Given the description of an element on the screen output the (x, y) to click on. 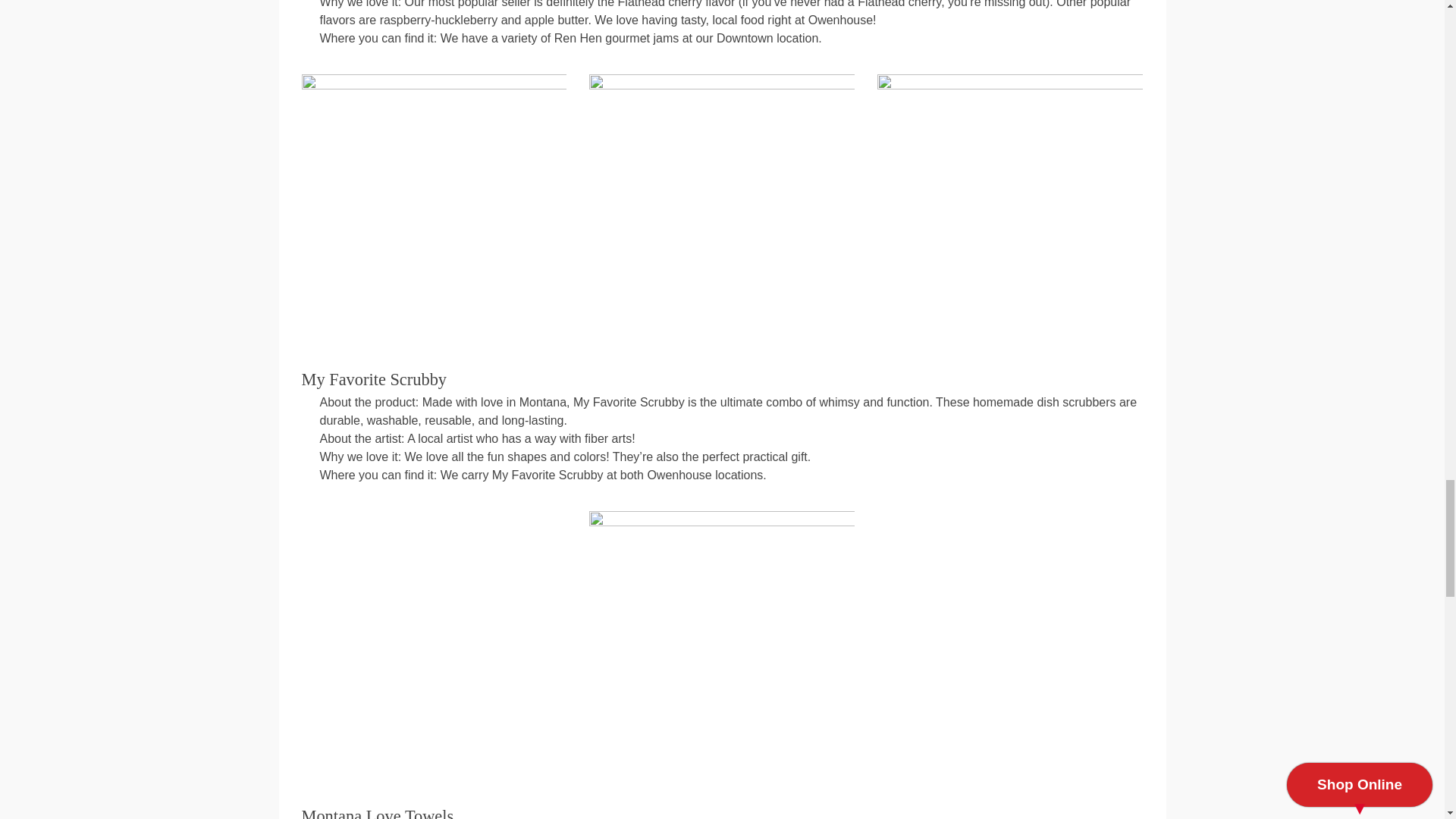
triple-red-hen (434, 206)
scrubby2 Medium (721, 643)
